Given the description of an element on the screen output the (x, y) to click on. 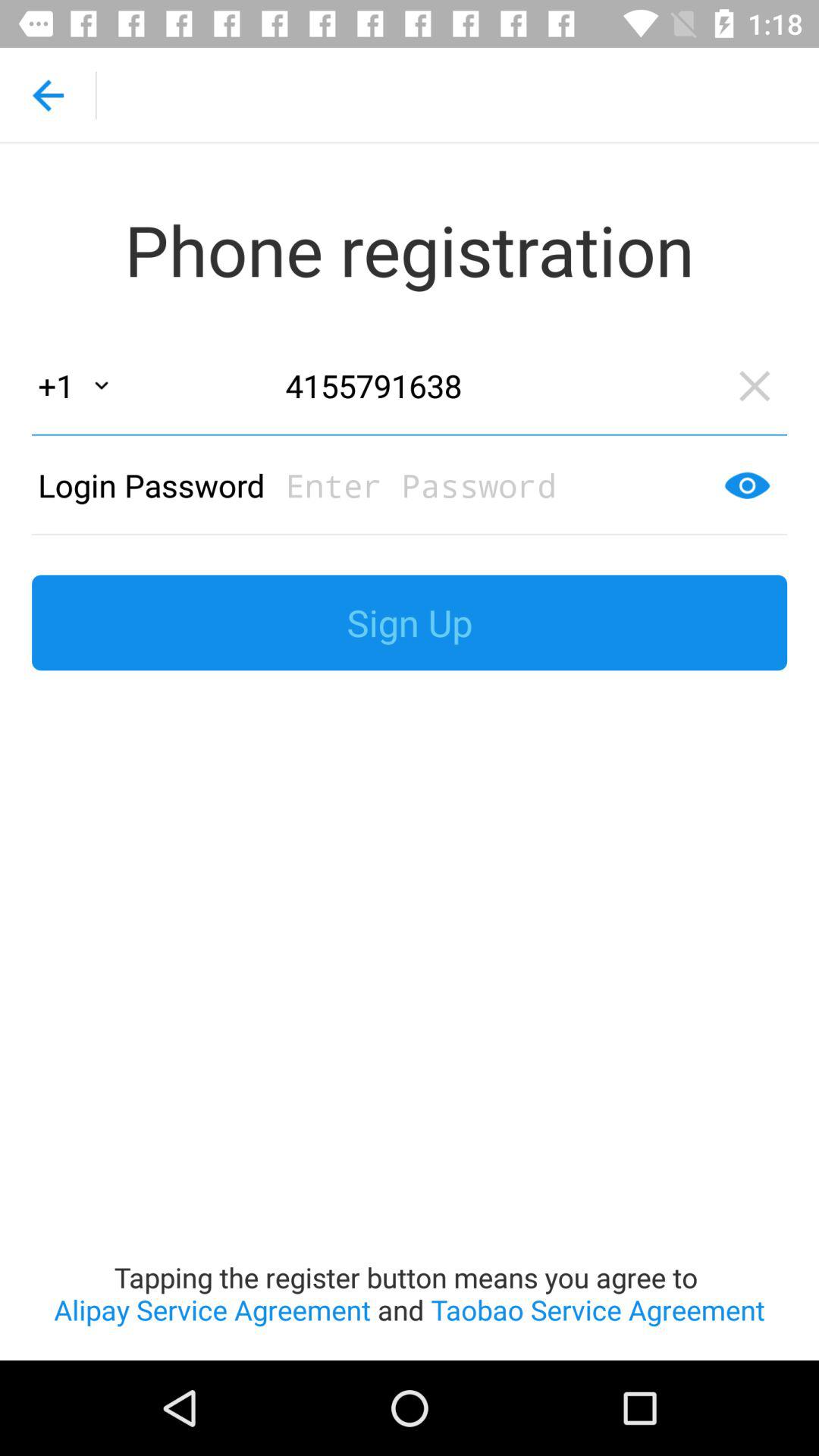
swipe until the 4155791638 icon (497, 385)
